Given the description of an element on the screen output the (x, y) to click on. 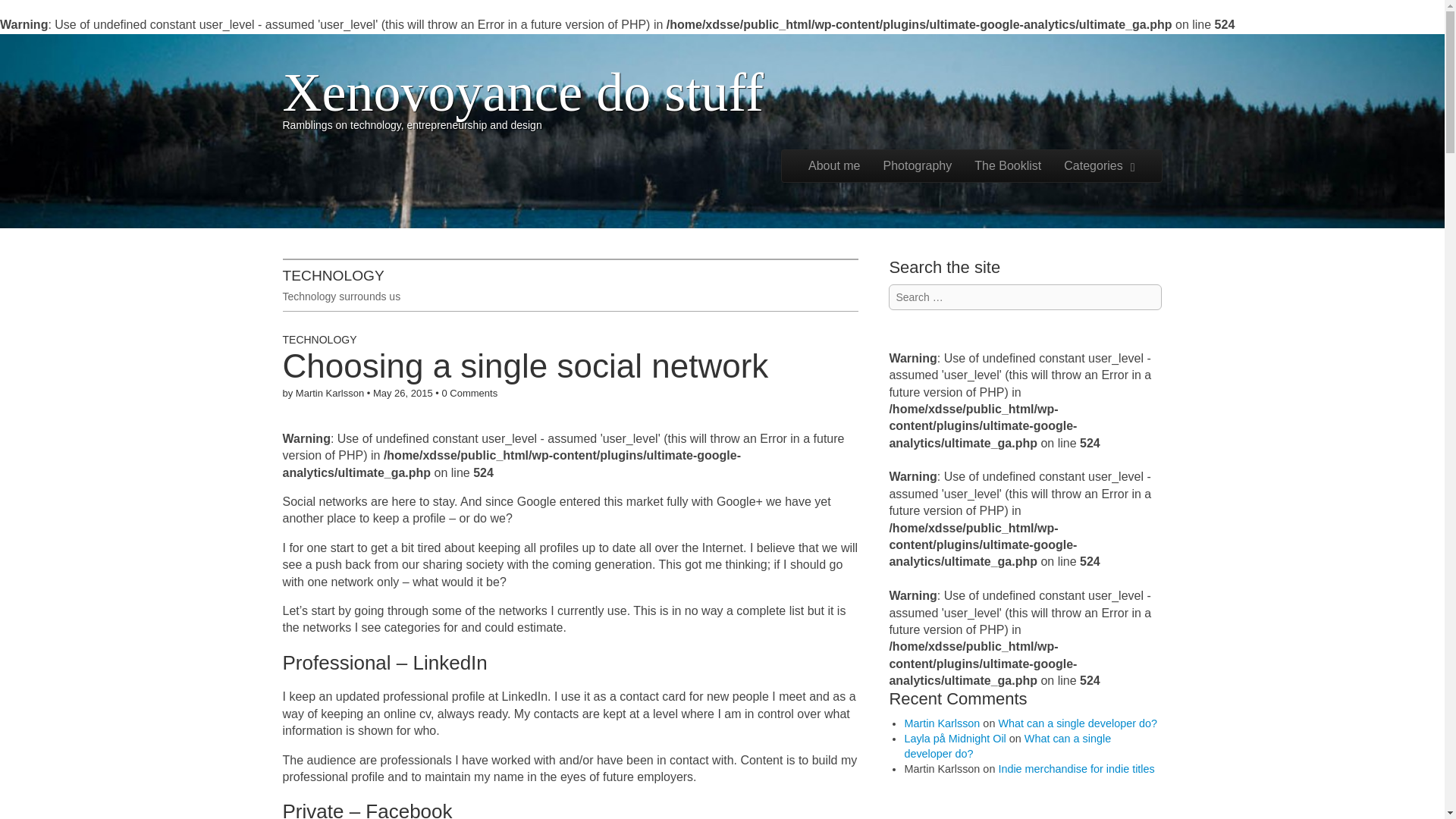
Choosing a single social network (525, 365)
Categories (1098, 165)
Skip to content (820, 157)
Martin Karlsson (329, 392)
About me (833, 165)
Xenovoyance do stuff (522, 92)
Xenovoyance do stuff (522, 92)
Posts by Martin Karlsson (329, 392)
TECHNOLOGY (319, 339)
Photography (917, 165)
0 Comments (469, 392)
Skip to content (820, 157)
Choosing a single social network (525, 365)
The Booklist (1007, 165)
May 26, 2015 (402, 392)
